Given the description of an element on the screen output the (x, y) to click on. 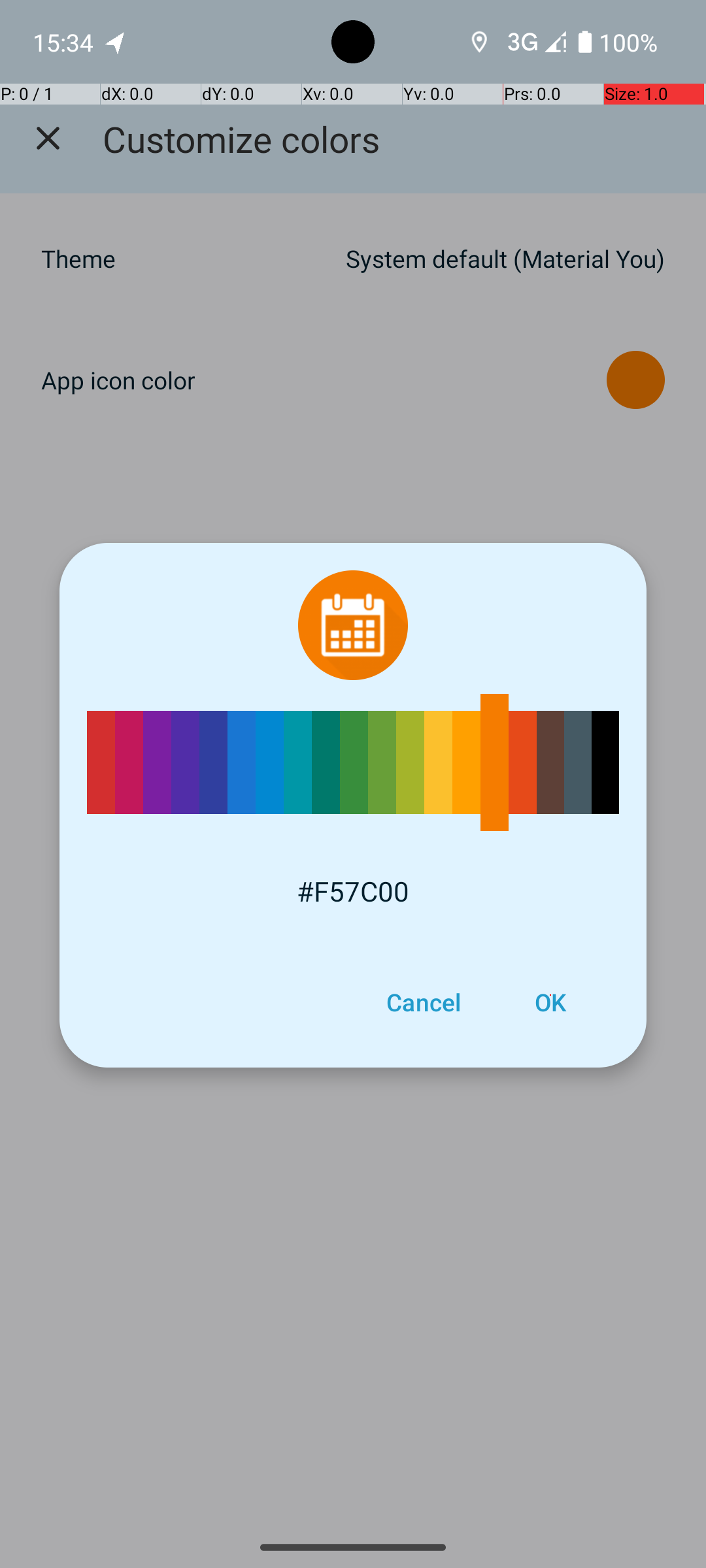
#F57C00 Element type: android.widget.TextView (352, 890)
